Given the description of an element on the screen output the (x, y) to click on. 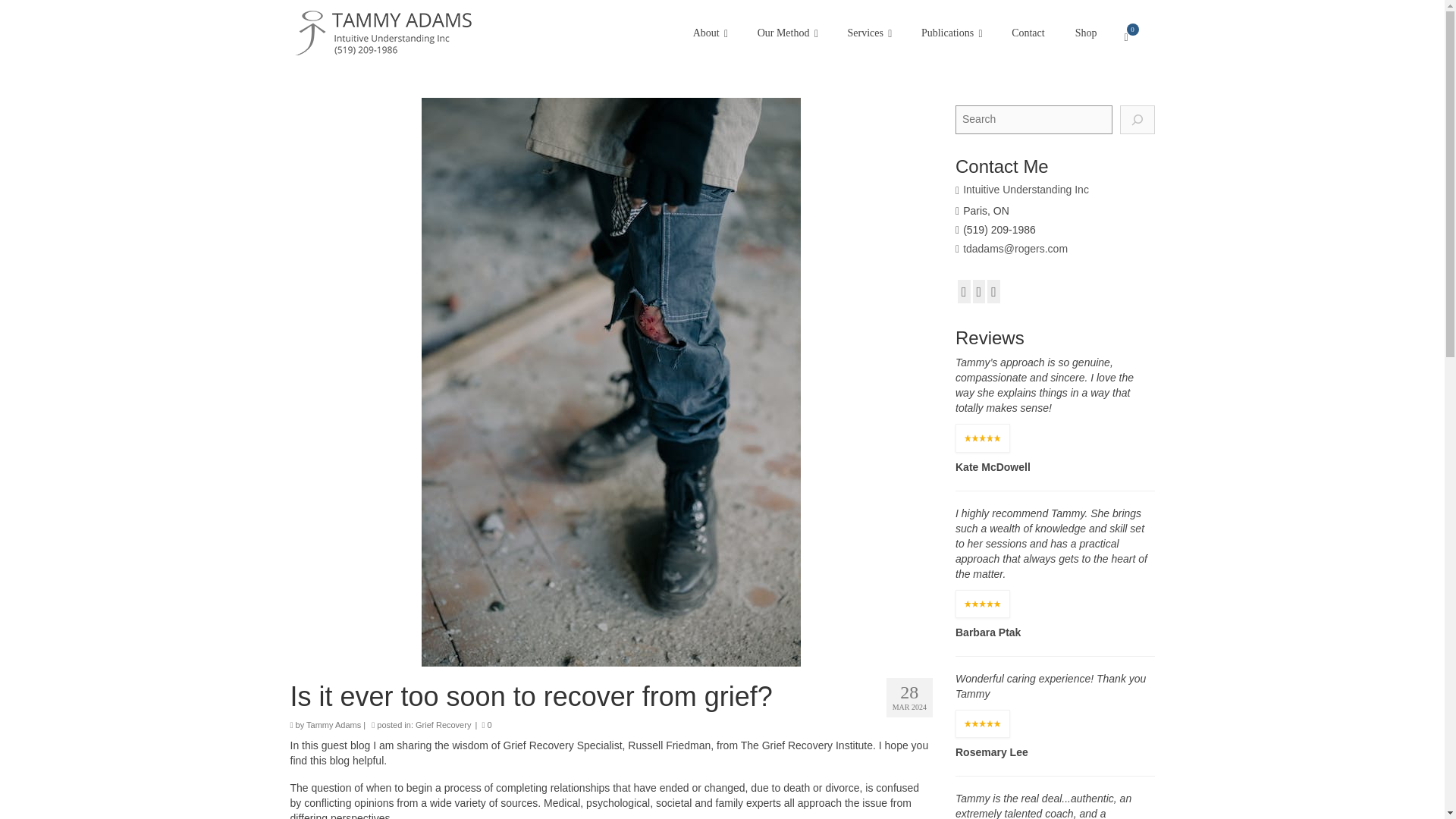
Publications (950, 32)
About (710, 32)
Shop (1085, 32)
Intuitive Understanding (428, 33)
Contact (1027, 32)
0 (1133, 37)
Our Method (787, 32)
Services (868, 32)
Your Cart (1133, 37)
